Given the description of an element on the screen output the (x, y) to click on. 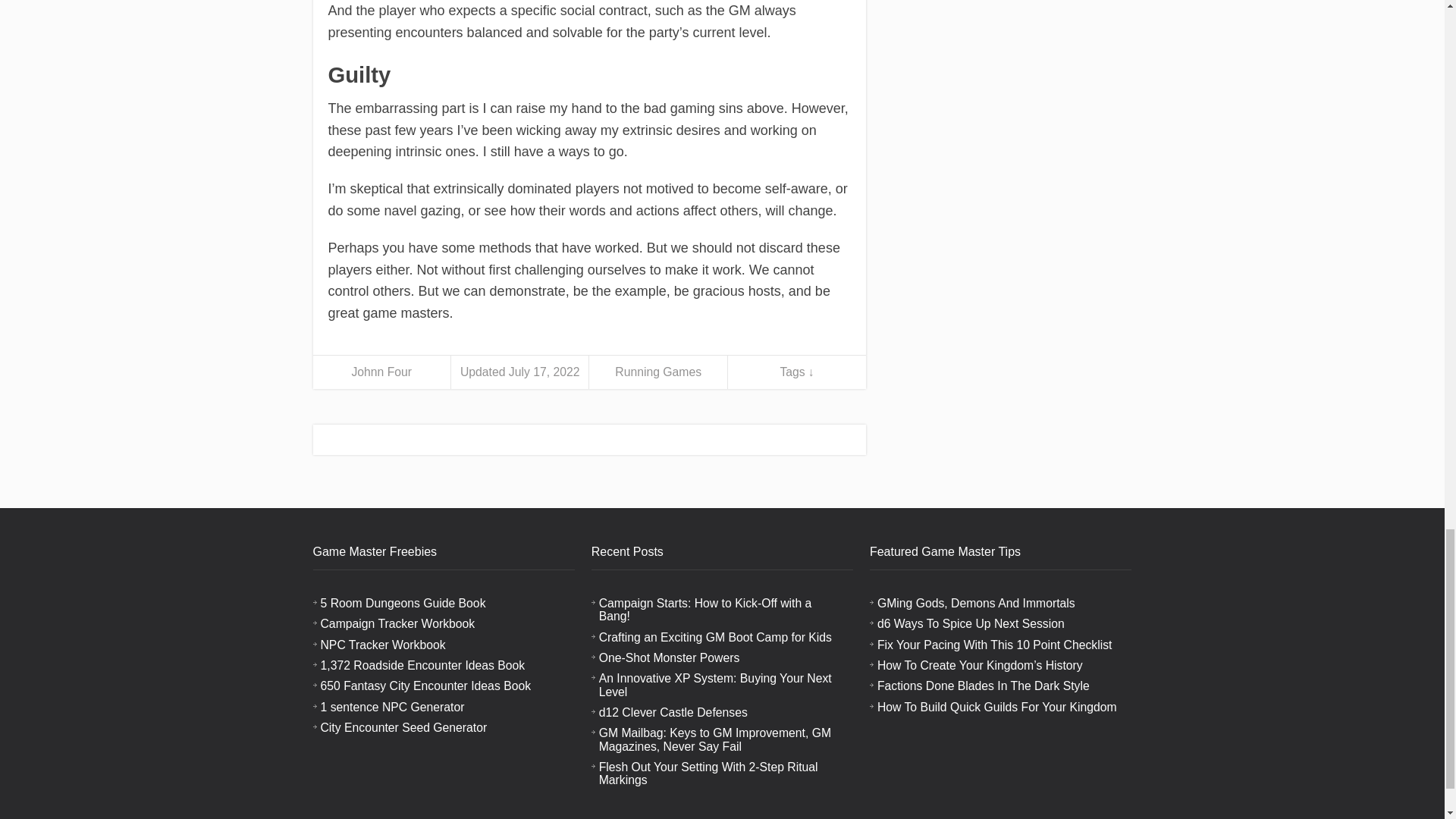
Johnn Four (381, 371)
